Given the description of an element on the screen output the (x, y) to click on. 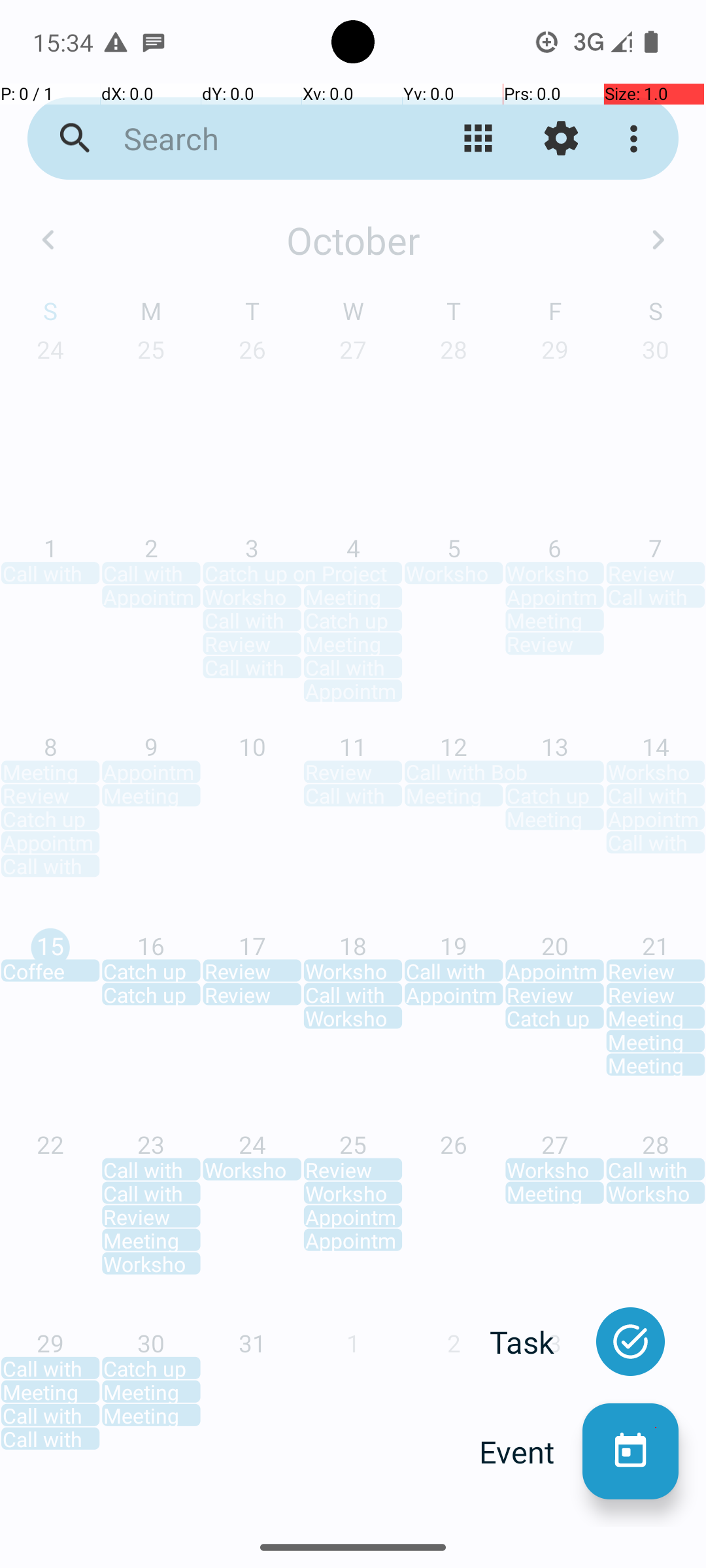
Task Element type: android.widget.TextView (535, 1341)
Event Element type: android.widget.TextView (530, 1451)
